Given the description of an element on the screen output the (x, y) to click on. 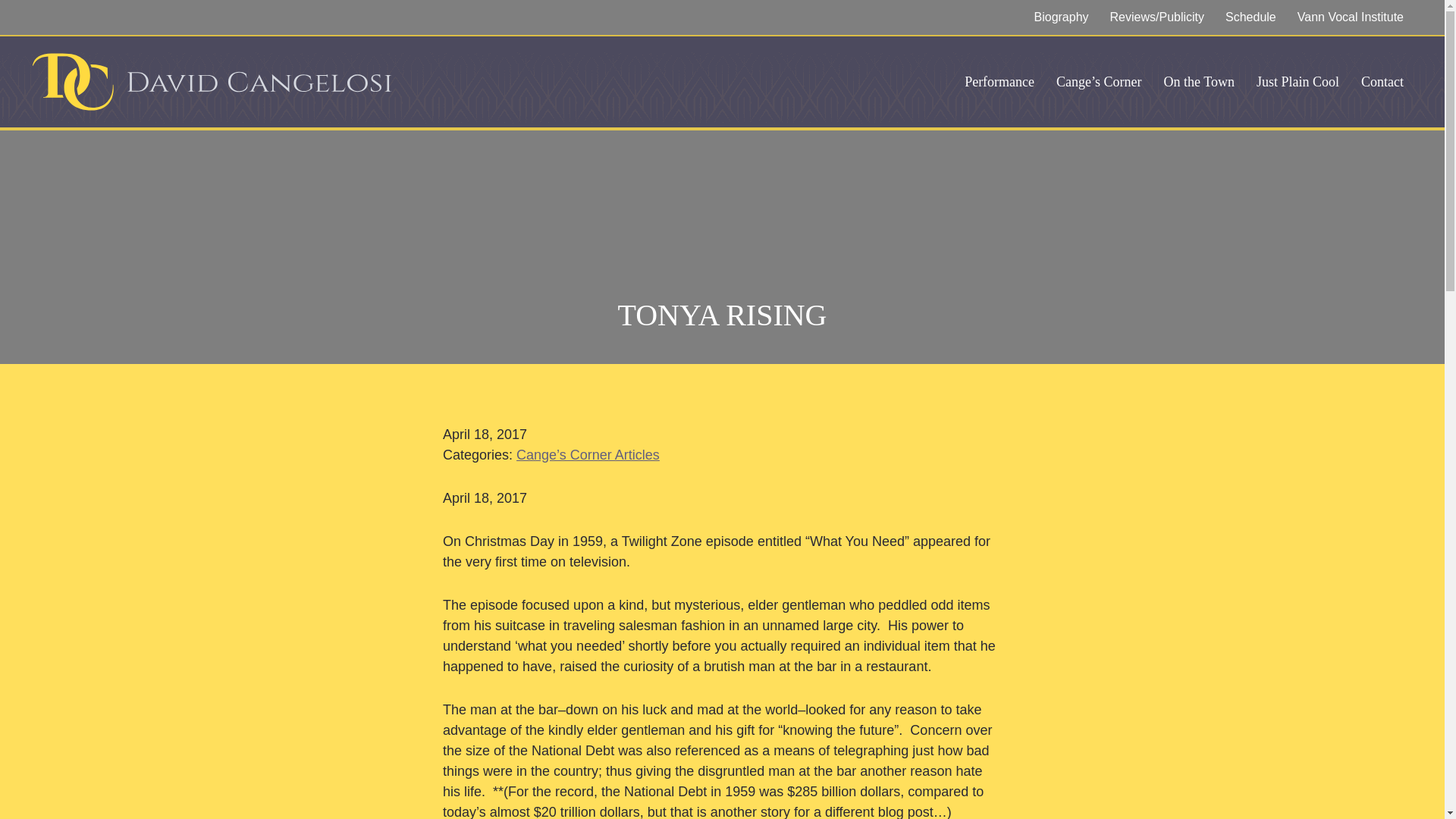
Performance (999, 81)
On the Town (1198, 81)
Just Plain Cool (1297, 81)
Contact (1382, 81)
Schedule (1250, 17)
Vann Vocal Institute (1350, 17)
Biography (1061, 17)
